Given the description of an element on the screen output the (x, y) to click on. 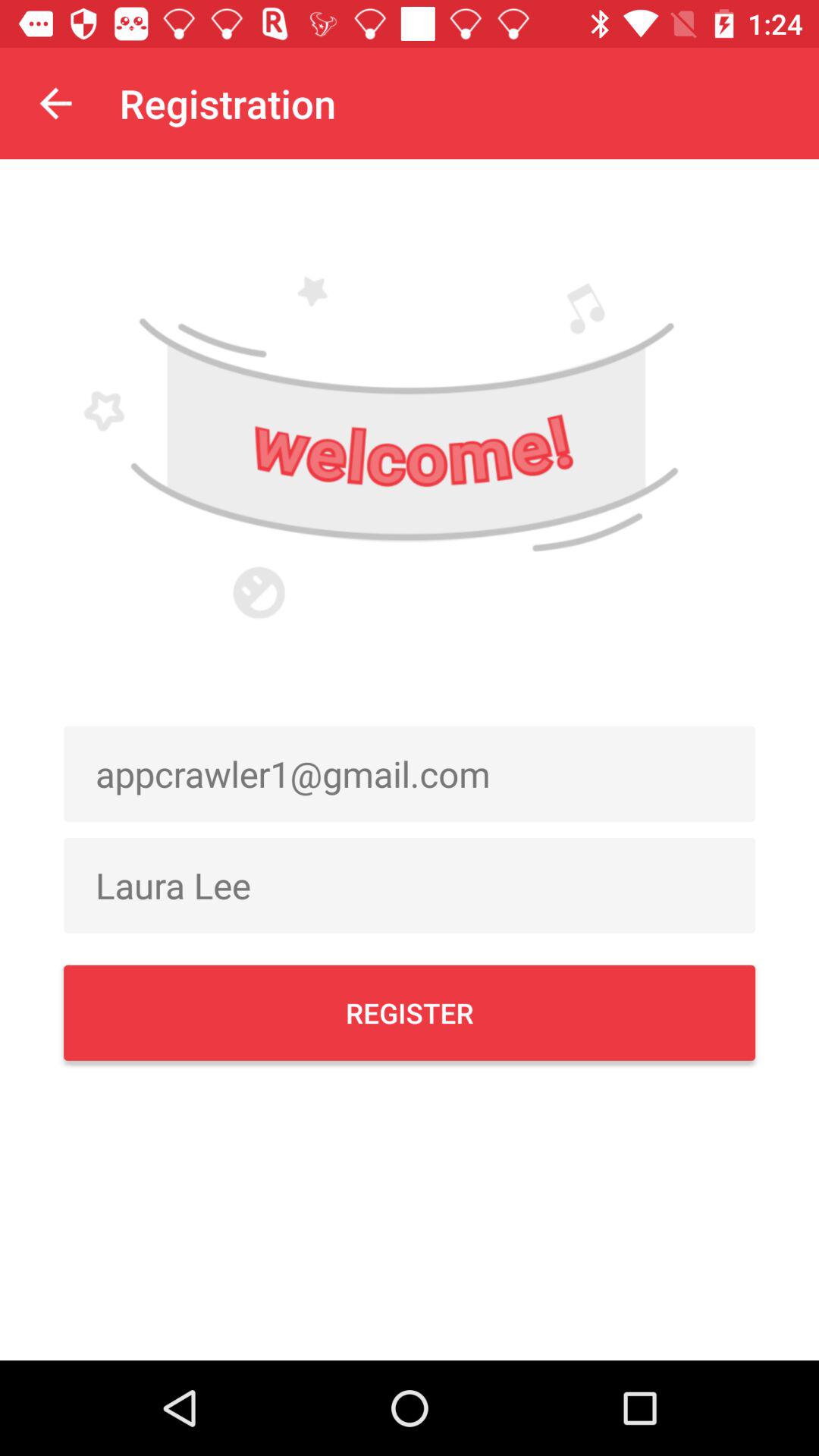
tap the item below the appcrawler1@gmail.com item (409, 885)
